Given the description of an element on the screen output the (x, y) to click on. 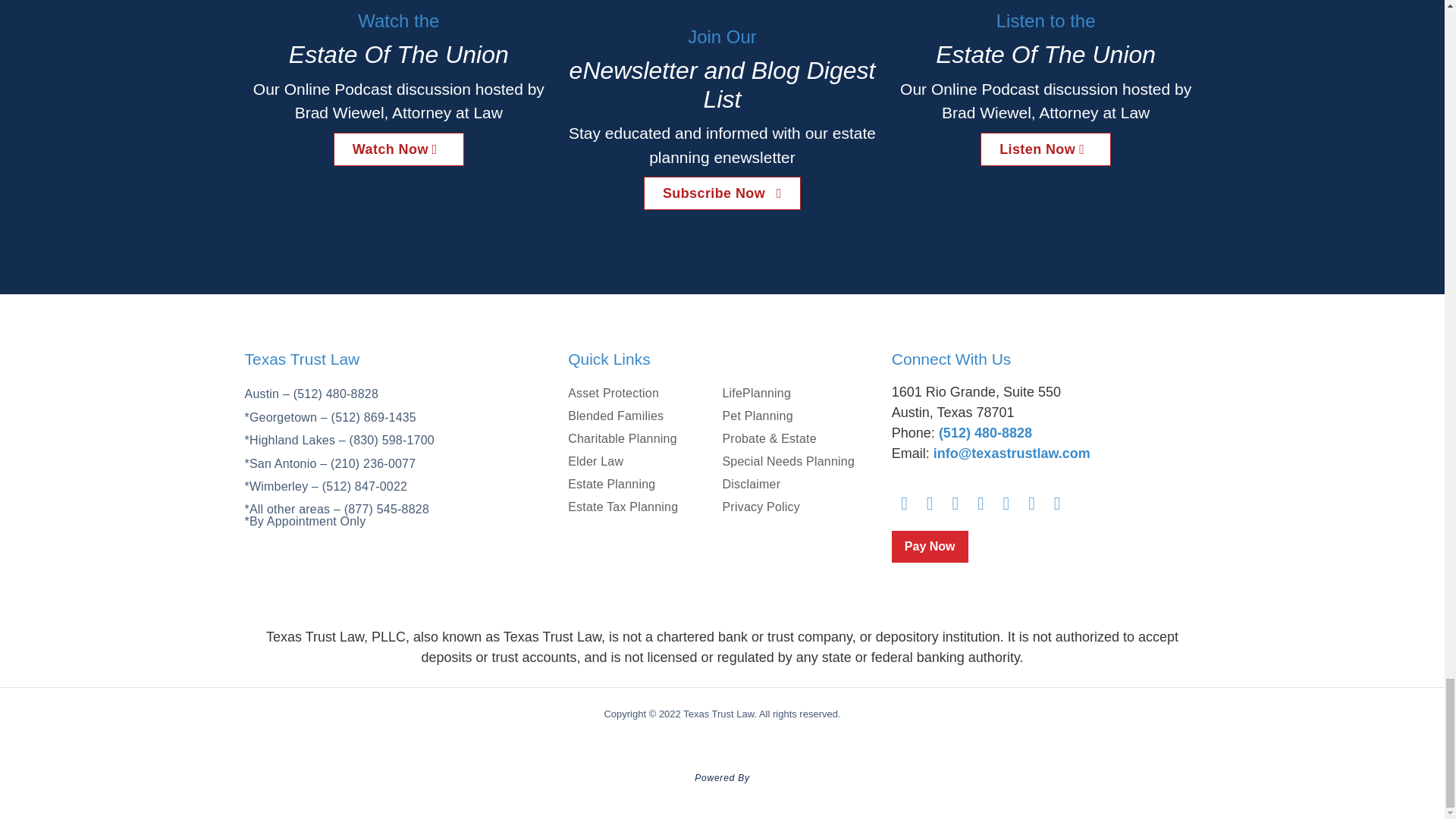
Pay Now (929, 546)
